Given the description of an element on the screen output the (x, y) to click on. 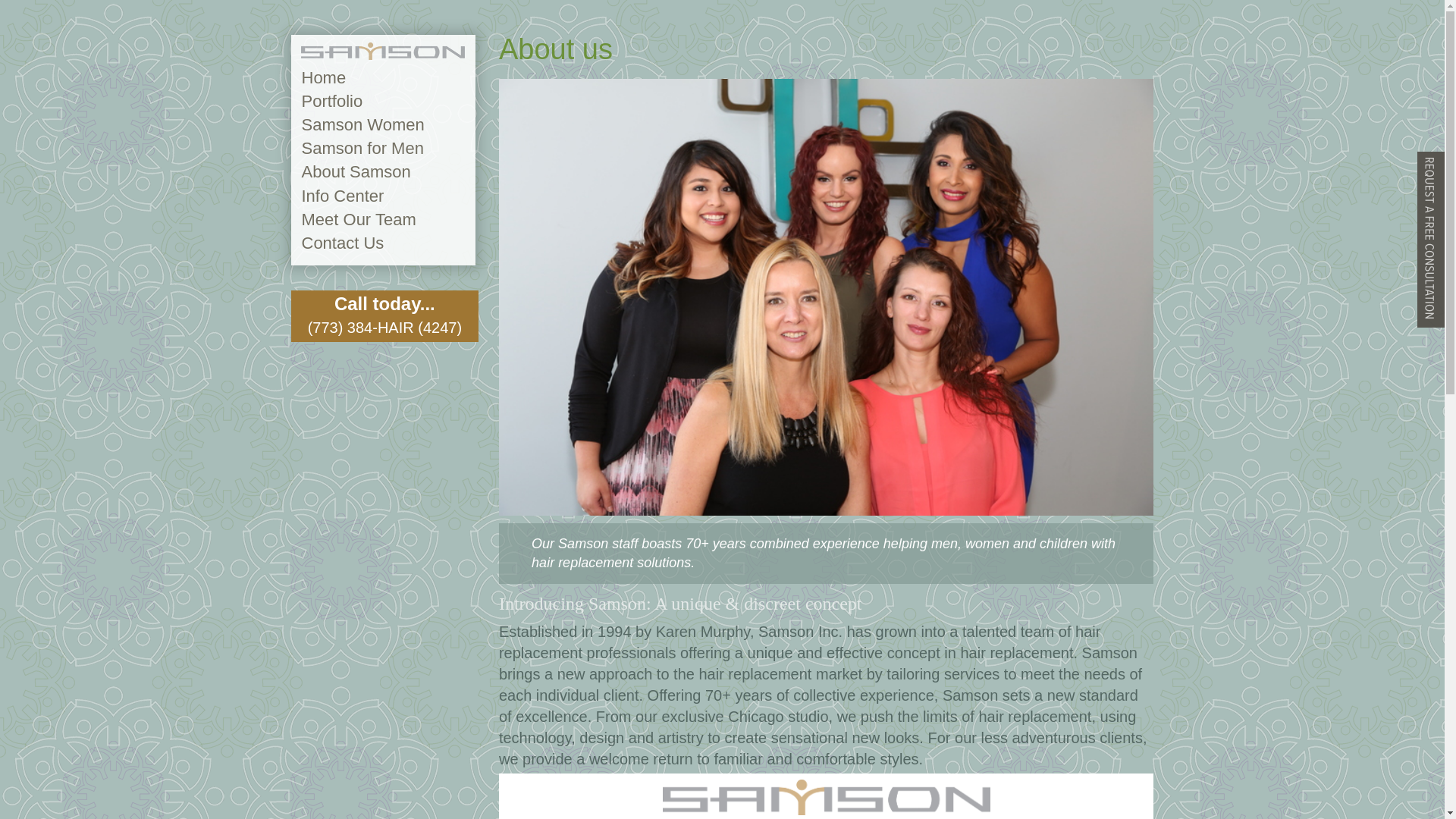
Portfolio (331, 100)
Contact Us (342, 242)
Samson for Men (362, 148)
Samson Women (363, 124)
Info Center (342, 195)
About Samson (355, 171)
Home (323, 76)
Meet Our Team (358, 219)
